Given the description of an element on the screen output the (x, y) to click on. 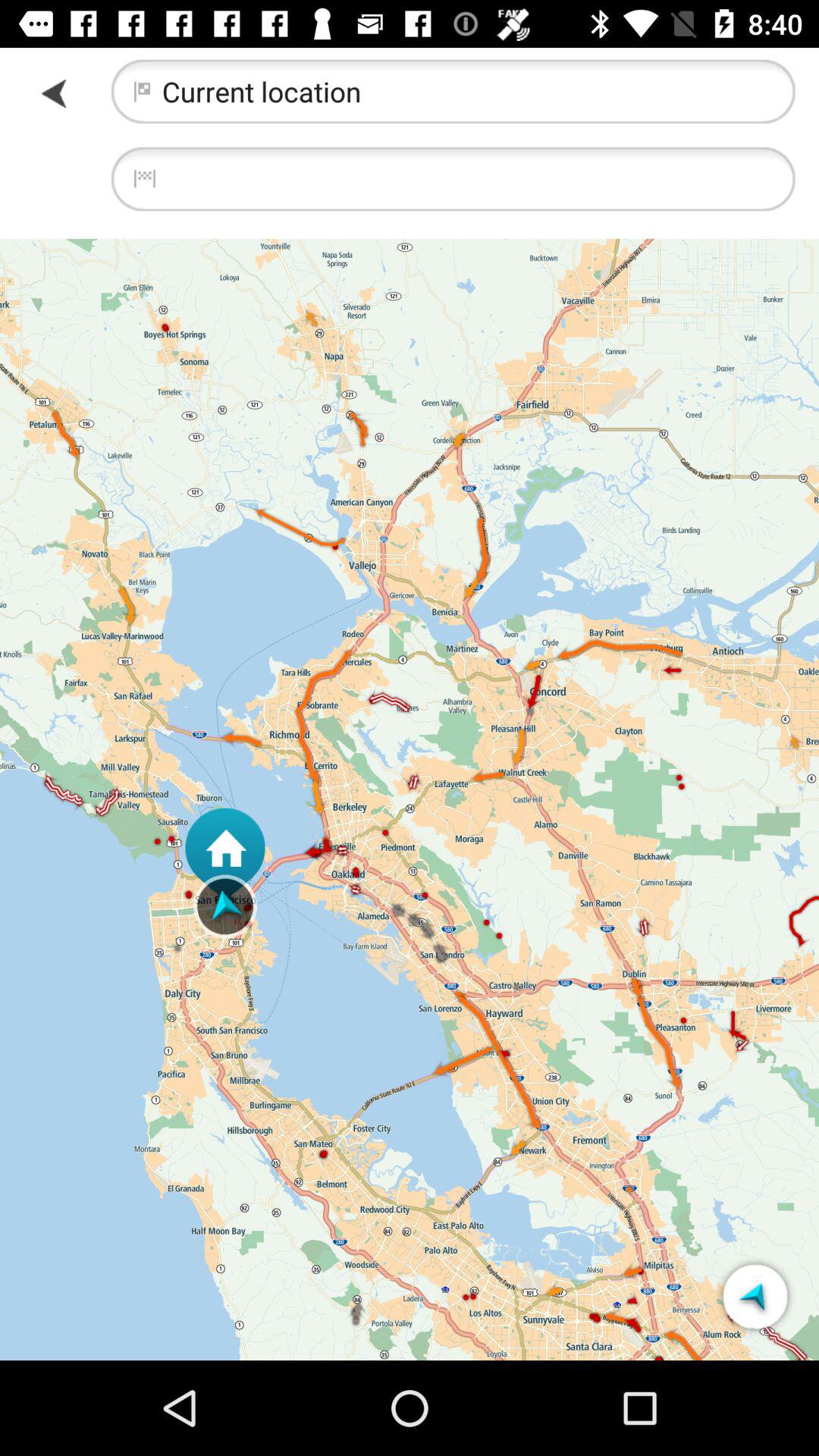
tap current location item (453, 91)
